Given the description of an element on the screen output the (x, y) to click on. 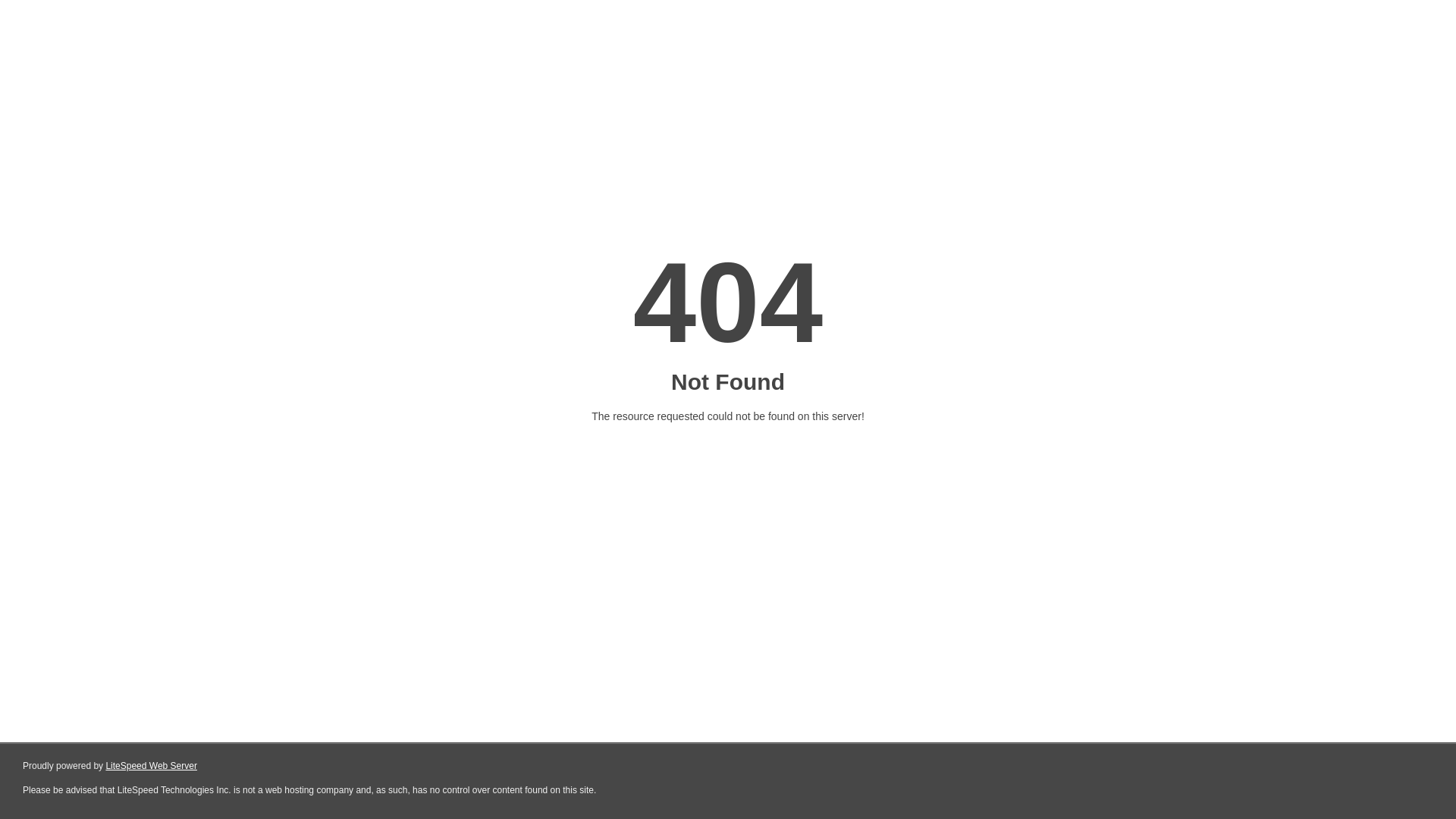
LiteSpeed Web Server Element type: text (151, 765)
